Given the description of an element on the screen output the (x, y) to click on. 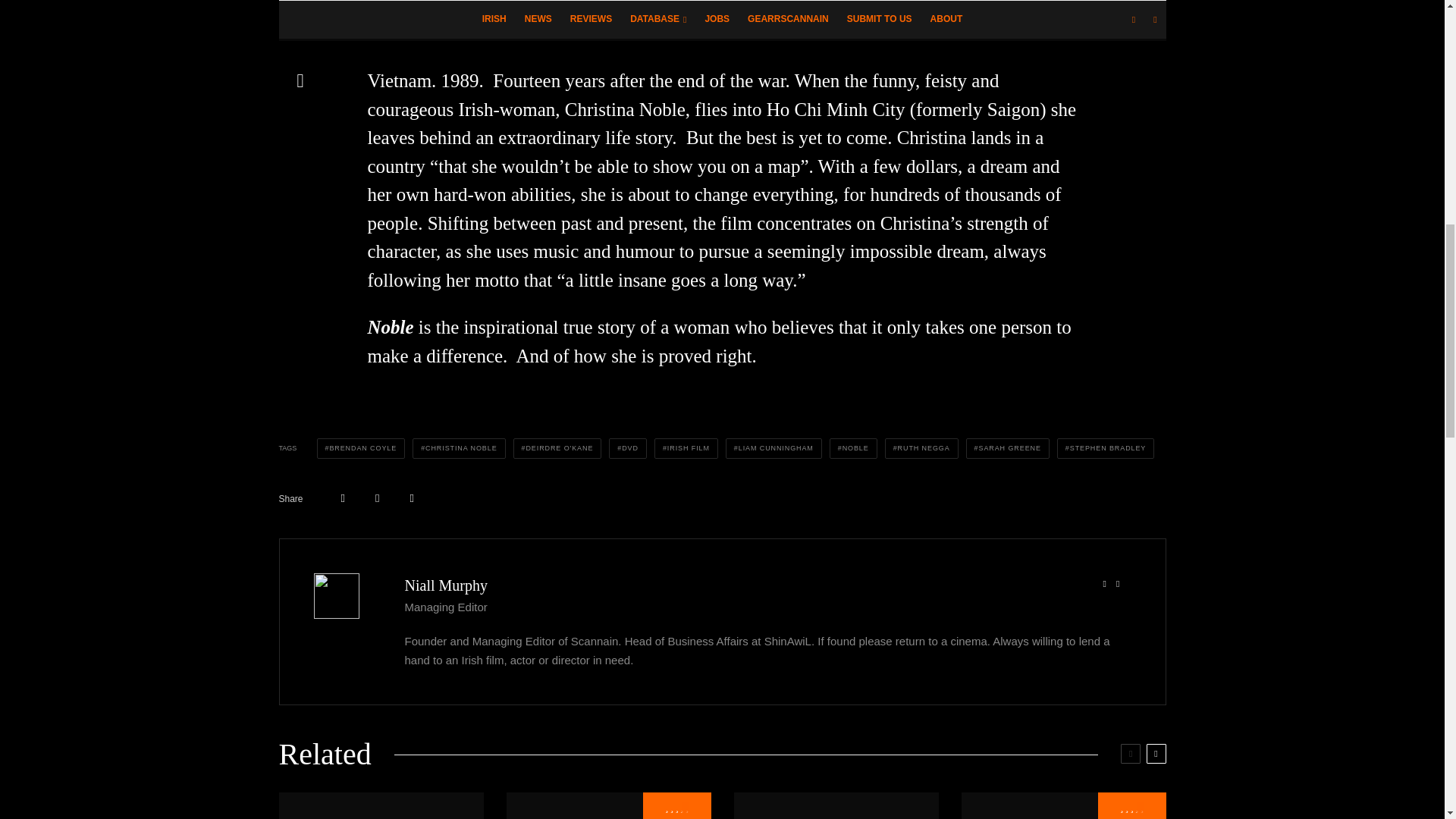
The Surfer (1063, 805)
Screenshot (836, 805)
